Given the description of an element on the screen output the (x, y) to click on. 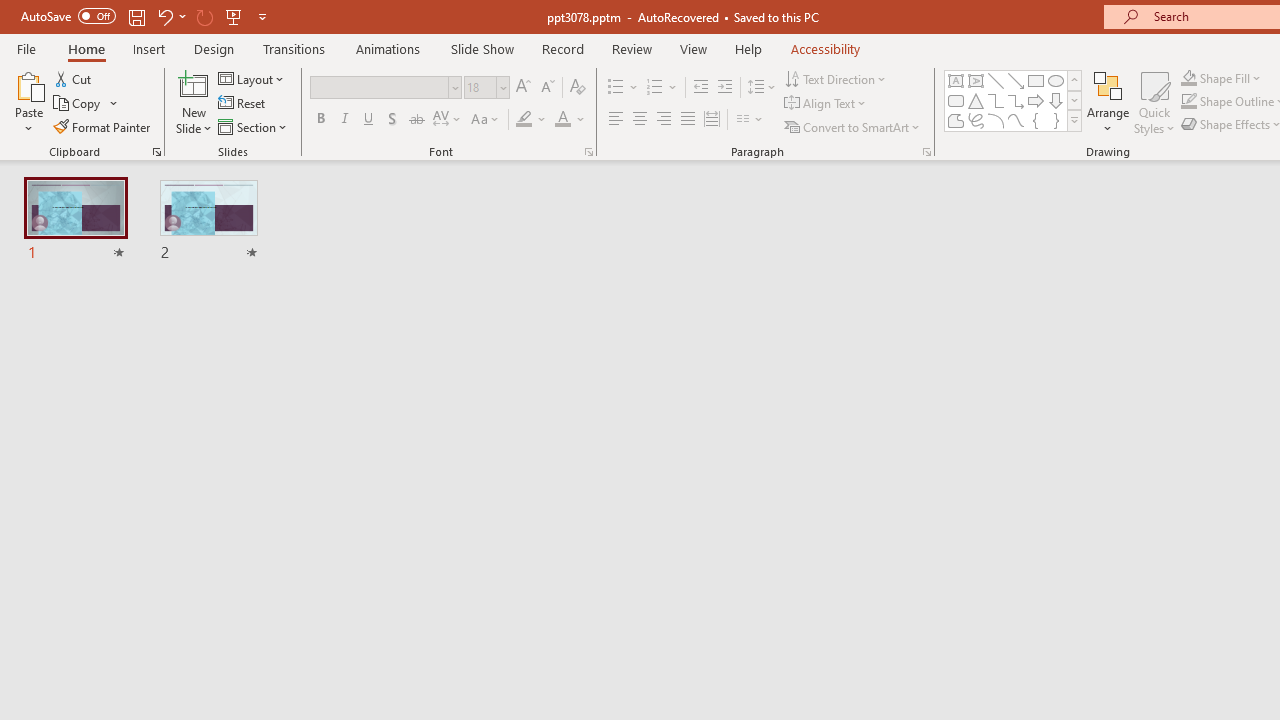
SJTUvpn (774, 138)
wangyian_dsw - DSW (42, 321)
Application Menu (135, 322)
WebIDE (854, 202)
Class: menubar compact overflow-menu-only inactive (135, 322)
Go Back (Alt+LeftArrow) (605, 264)
Explorer (Ctrl+Shift+E) (135, 388)
Notebook (652, 202)
Gmail (637, 138)
Explorer Section: workspace (331, 368)
Microsoft security help and learning (42, 613)
